Given the description of an element on the screen output the (x, y) to click on. 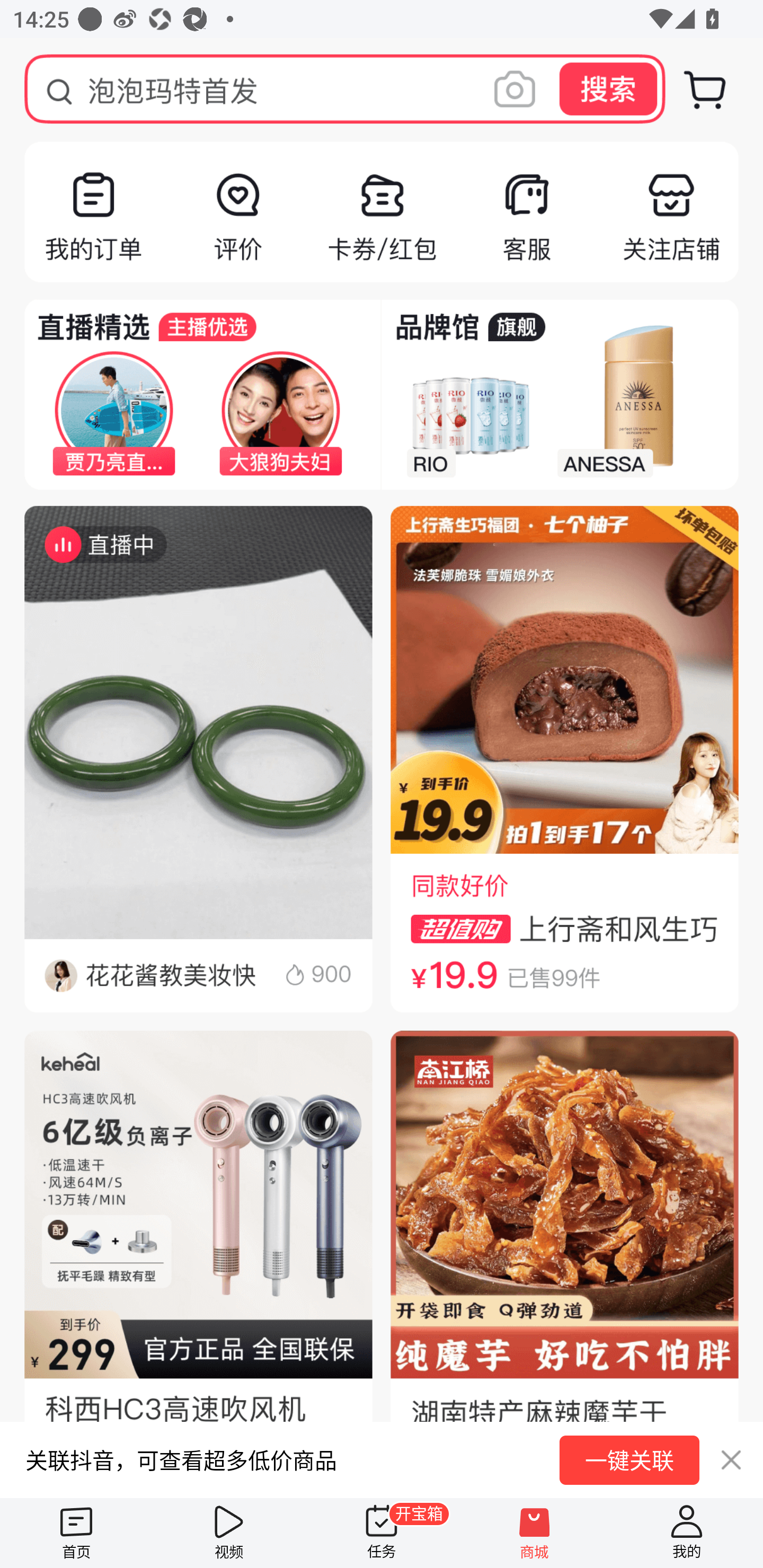
关联抖音，可查看超多低价商品 一键关联 (381, 1459)
一键关联 (629, 1460)
首页 (76, 1532)
视频 (228, 1532)
任务 开宝箱 (381, 1532)
商城 (533, 1532)
我的 (686, 1532)
